Given the description of an element on the screen output the (x, y) to click on. 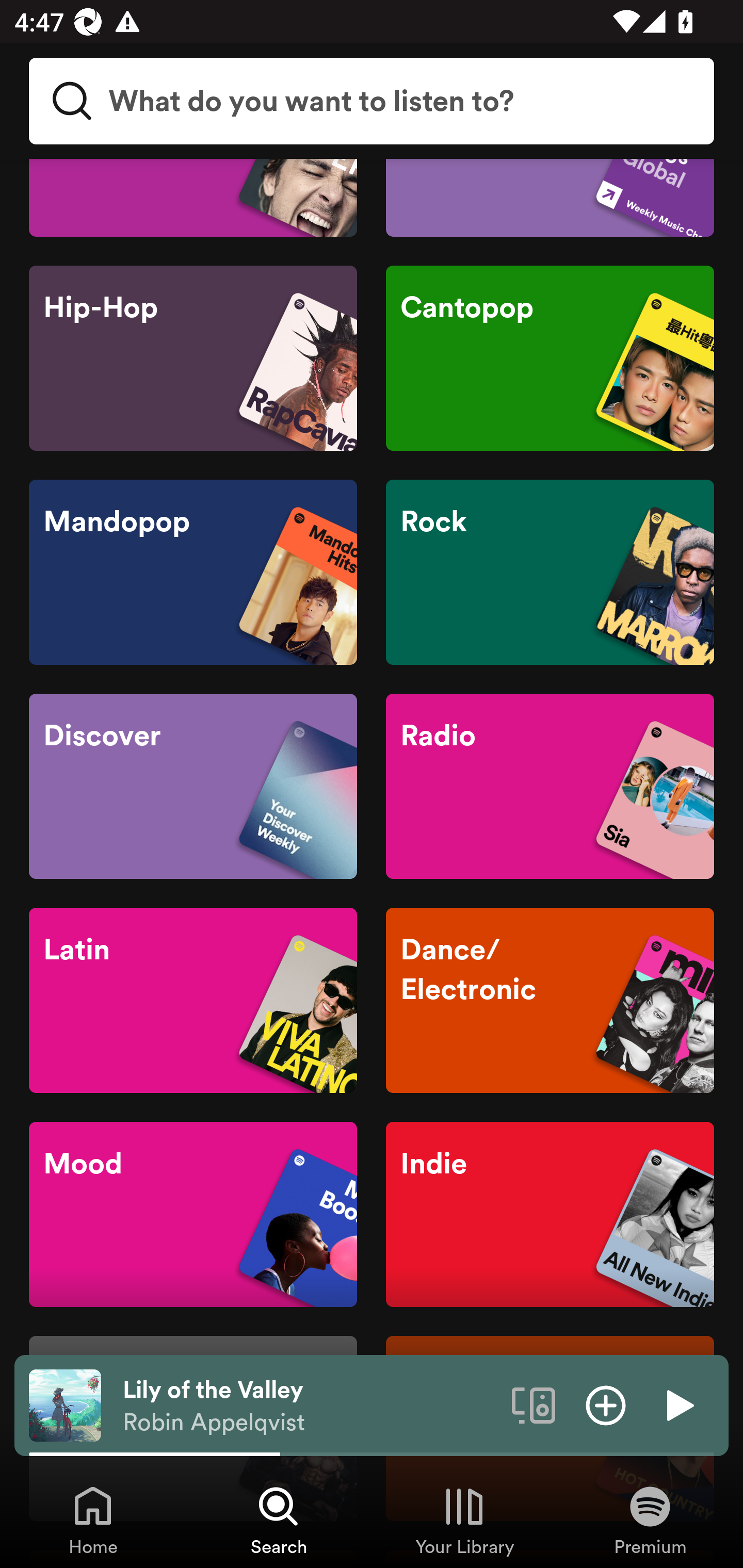
Comedy (192, 197)
Charts (549, 197)
Hip-Hop (192, 357)
Cantopop (549, 357)
Mandopop (192, 571)
Rock (549, 571)
Discover (192, 786)
Radio (549, 786)
Latin (192, 999)
Dance/Electronic (549, 999)
Mood (192, 1214)
Indie (549, 1214)
Lily of the Valley Robin Appelqvist (309, 1405)
The cover art of the currently playing track (64, 1404)
Connect to a device. Opens the devices menu (533, 1404)
Add item (605, 1404)
Play (677, 1404)
Home, Tab 1 of 4 Home Home (92, 1519)
Search, Tab 2 of 4 Search Search (278, 1519)
Your Library, Tab 3 of 4 Your Library Your Library (464, 1519)
Premium, Tab 4 of 4 Premium Premium (650, 1519)
